Given the description of an element on the screen output the (x, y) to click on. 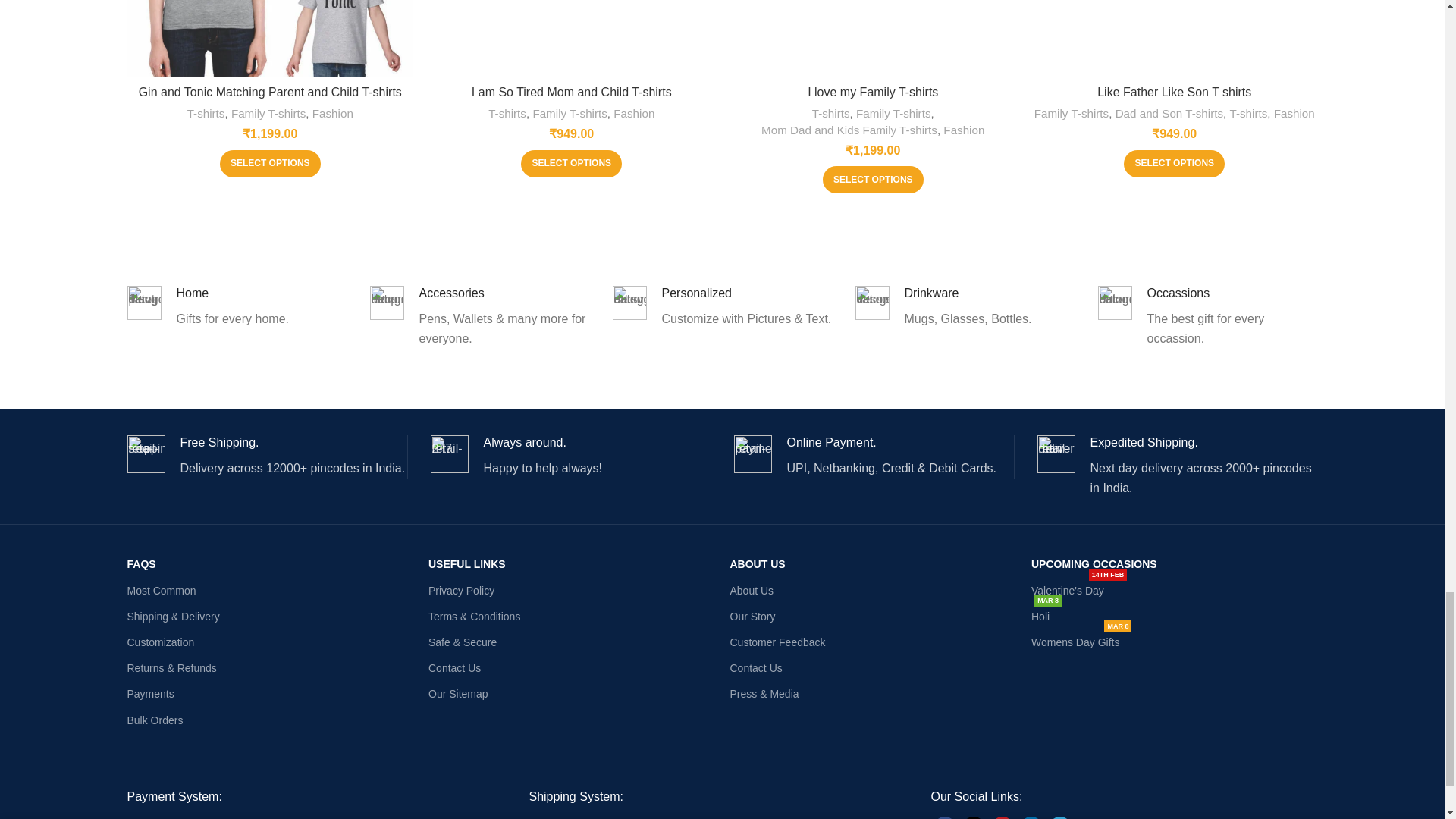
decor-category-baloons.svg (1114, 302)
decor-category-plant-1.svg (144, 302)
decor-category-art.svg (629, 302)
decor-category-vase.svg (872, 302)
retail-free-shipping (146, 453)
decor-category-lamp.svg (386, 302)
